Given the description of an element on the screen output the (x, y) to click on. 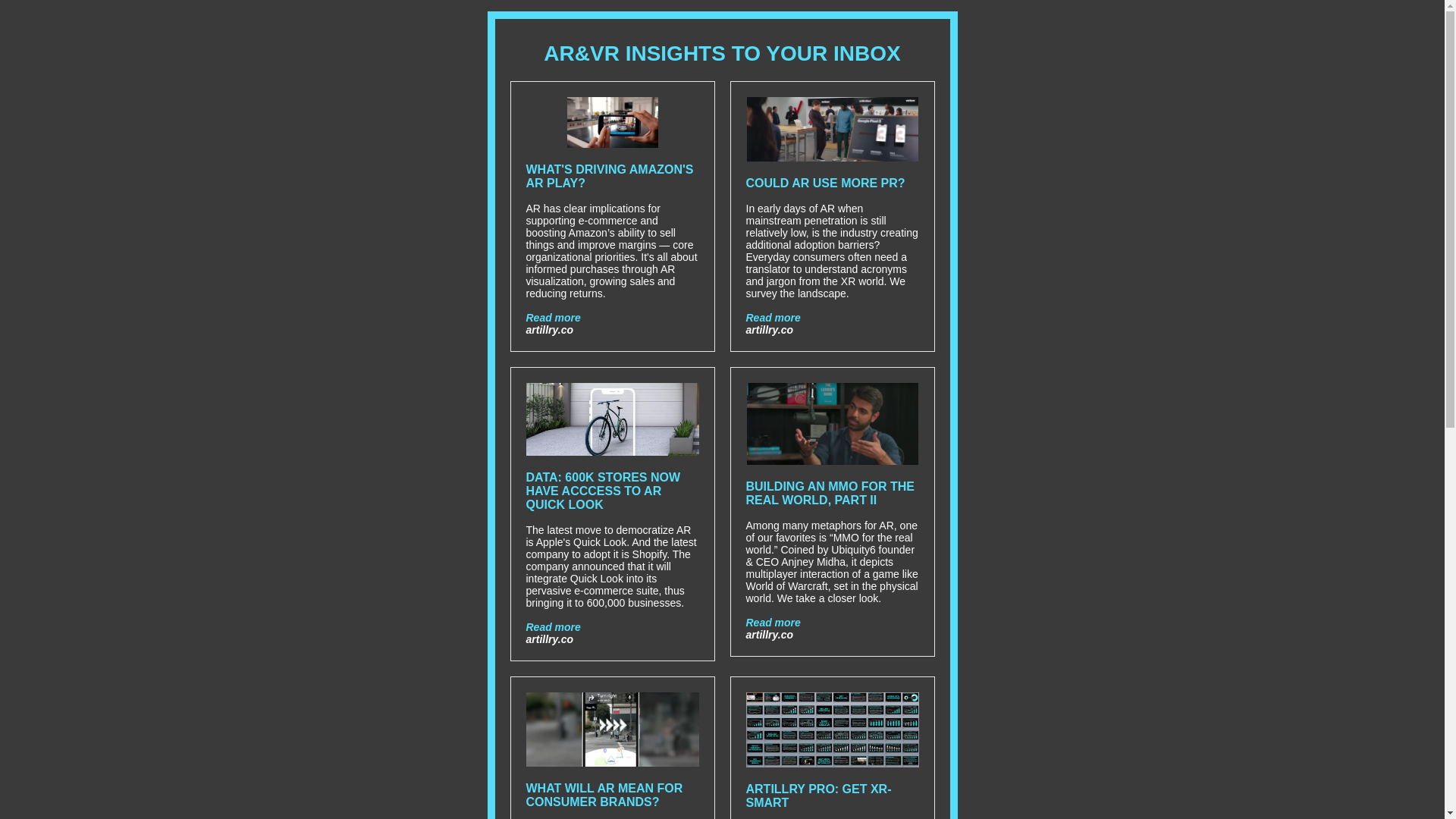
artillry.co (549, 639)
artillry.co (769, 634)
Read more (772, 317)
artillry.co (549, 329)
artillry.co (769, 329)
Read more (552, 317)
Read more (552, 626)
Read more (772, 622)
